Given the description of an element on the screen output the (x, y) to click on. 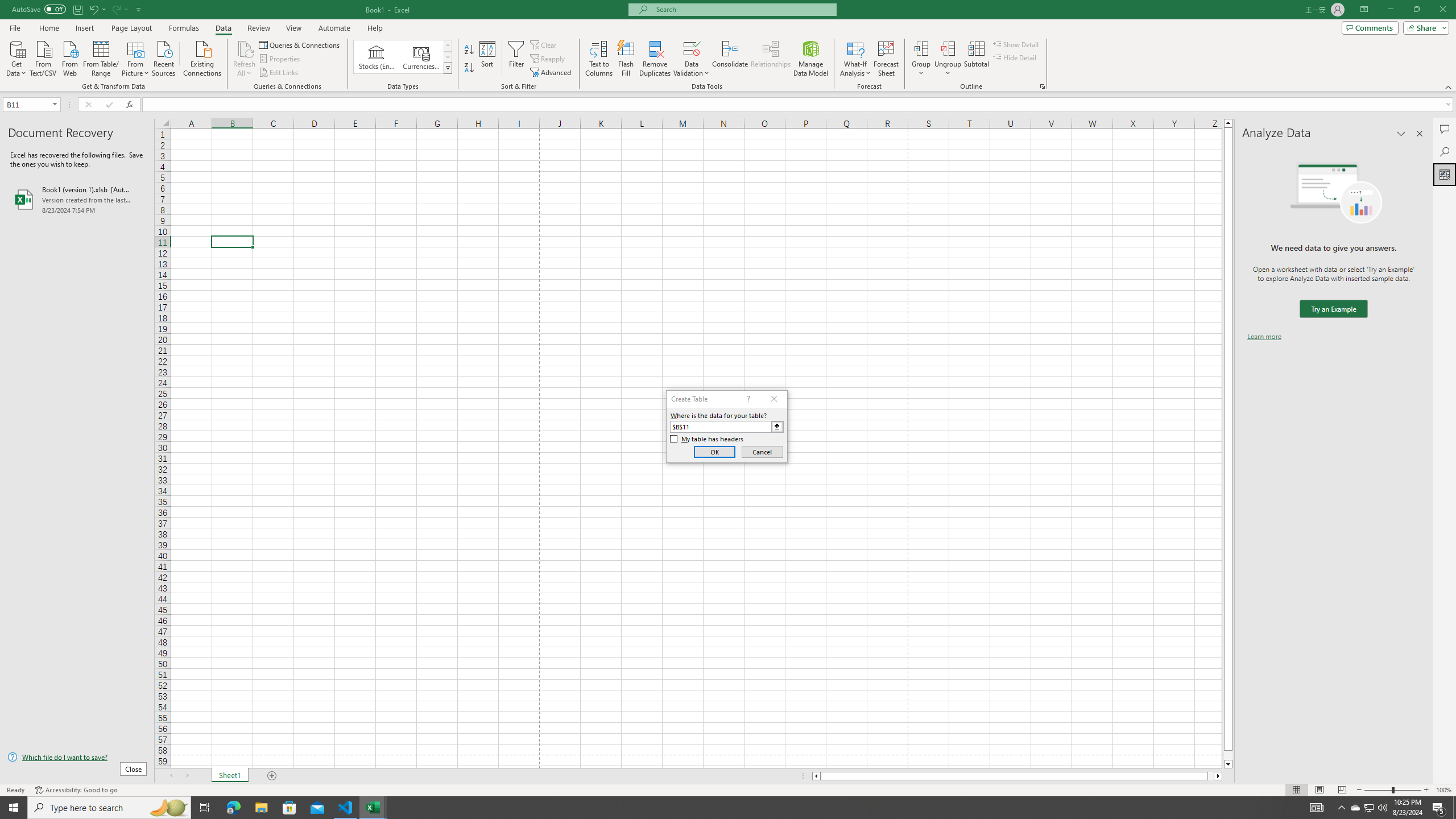
Text to Columns... (598, 58)
From Table/Range (100, 57)
Get Data (16, 57)
Currencies (English) (420, 56)
Data Types (448, 67)
